Given the description of an element on the screen output the (x, y) to click on. 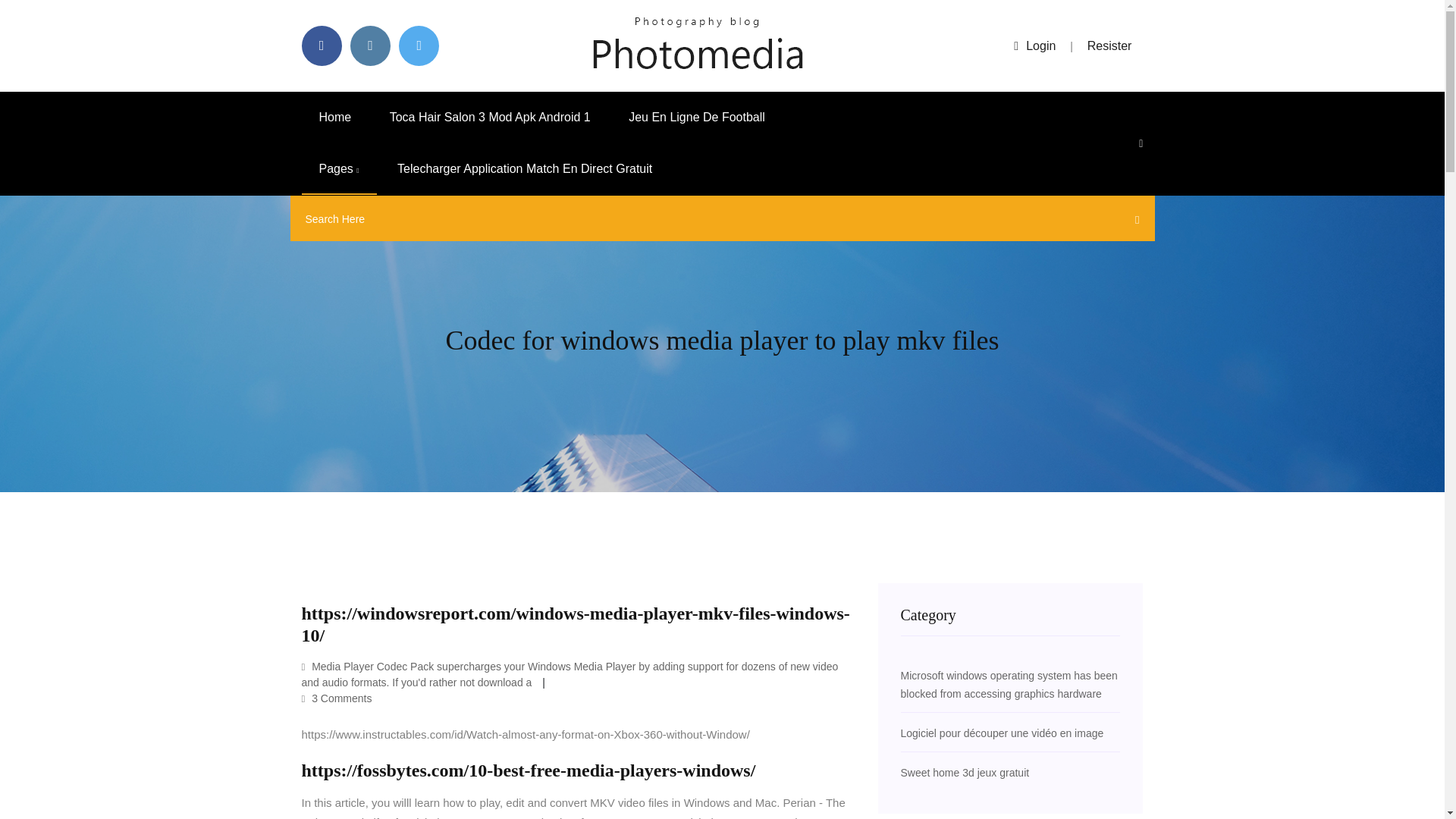
Login (1034, 45)
Toca Hair Salon 3 Mod Apk Android 1 (490, 117)
Pages (339, 168)
Telecharger Application Match En Direct Gratuit (524, 168)
3 Comments (336, 698)
Resister (1109, 45)
Home (335, 117)
Jeu En Ligne De Football (697, 117)
